Given the description of an element on the screen output the (x, y) to click on. 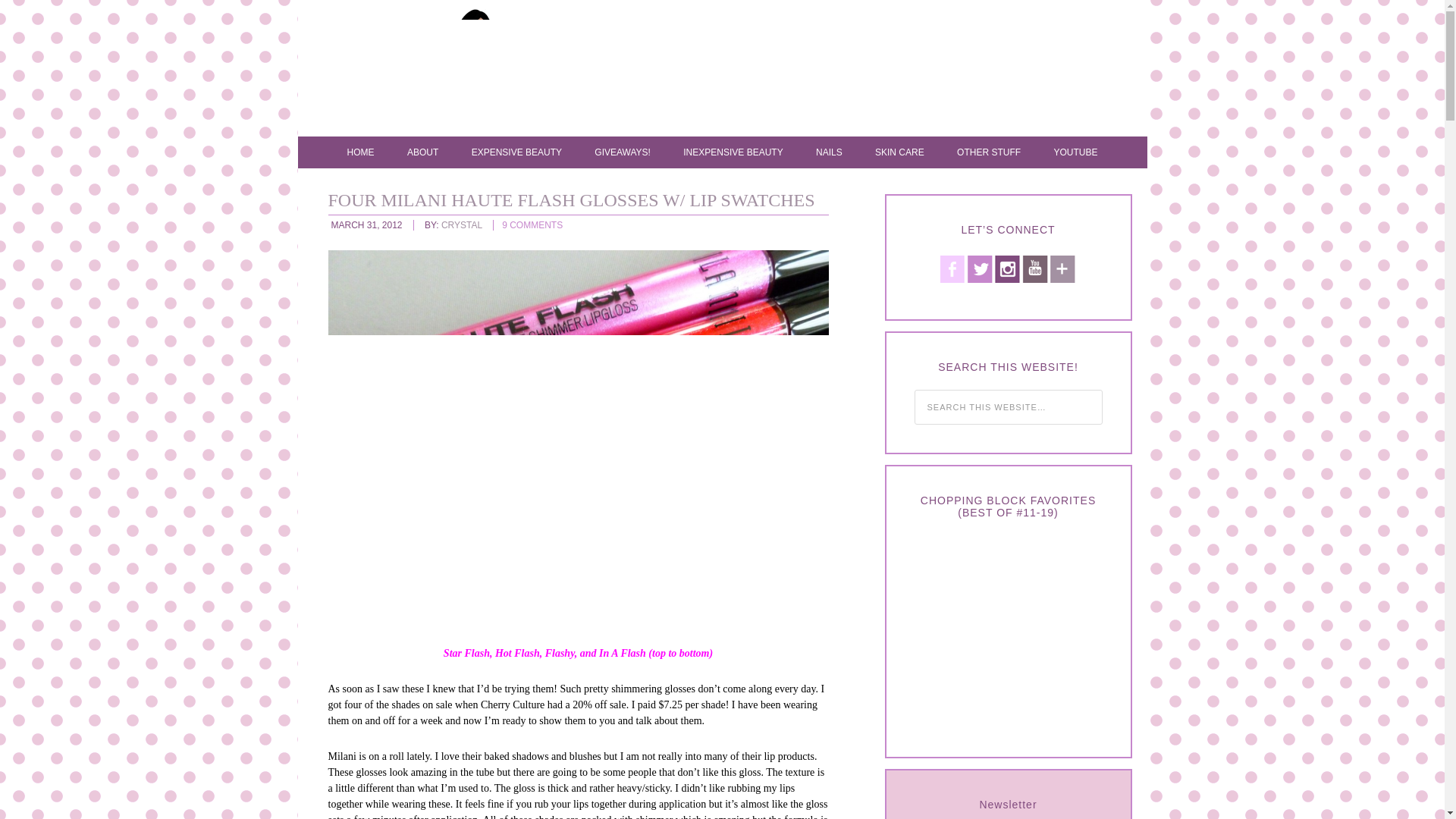
ABOUT (421, 152)
INEXPENSIVE BEAUTY (732, 152)
OTHER STUFF (988, 152)
YOUTUBE (1075, 152)
9 COMMENTS (532, 225)
EXPENSIVE BEAUTY (516, 152)
SKIN CARE (899, 152)
crystalis007 (737, 71)
NAILS (828, 152)
